Given the description of an element on the screen output the (x, y) to click on. 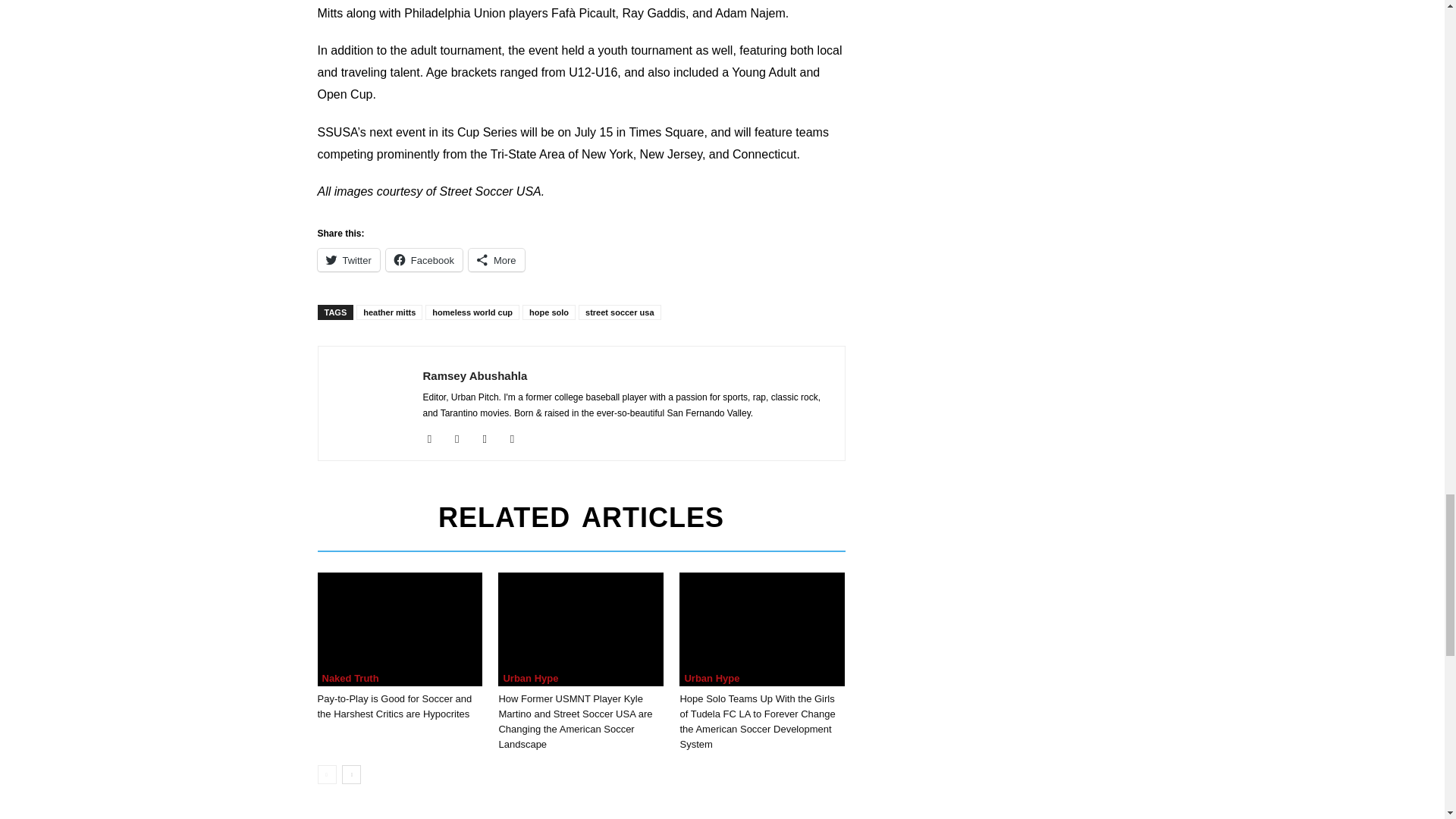
Twitter (347, 259)
Facebook (424, 259)
More (496, 259)
Click to share on Twitter (347, 259)
Click to share on Facebook (424, 259)
Instagram (462, 438)
Facebook (435, 438)
